Given the description of an element on the screen output the (x, y) to click on. 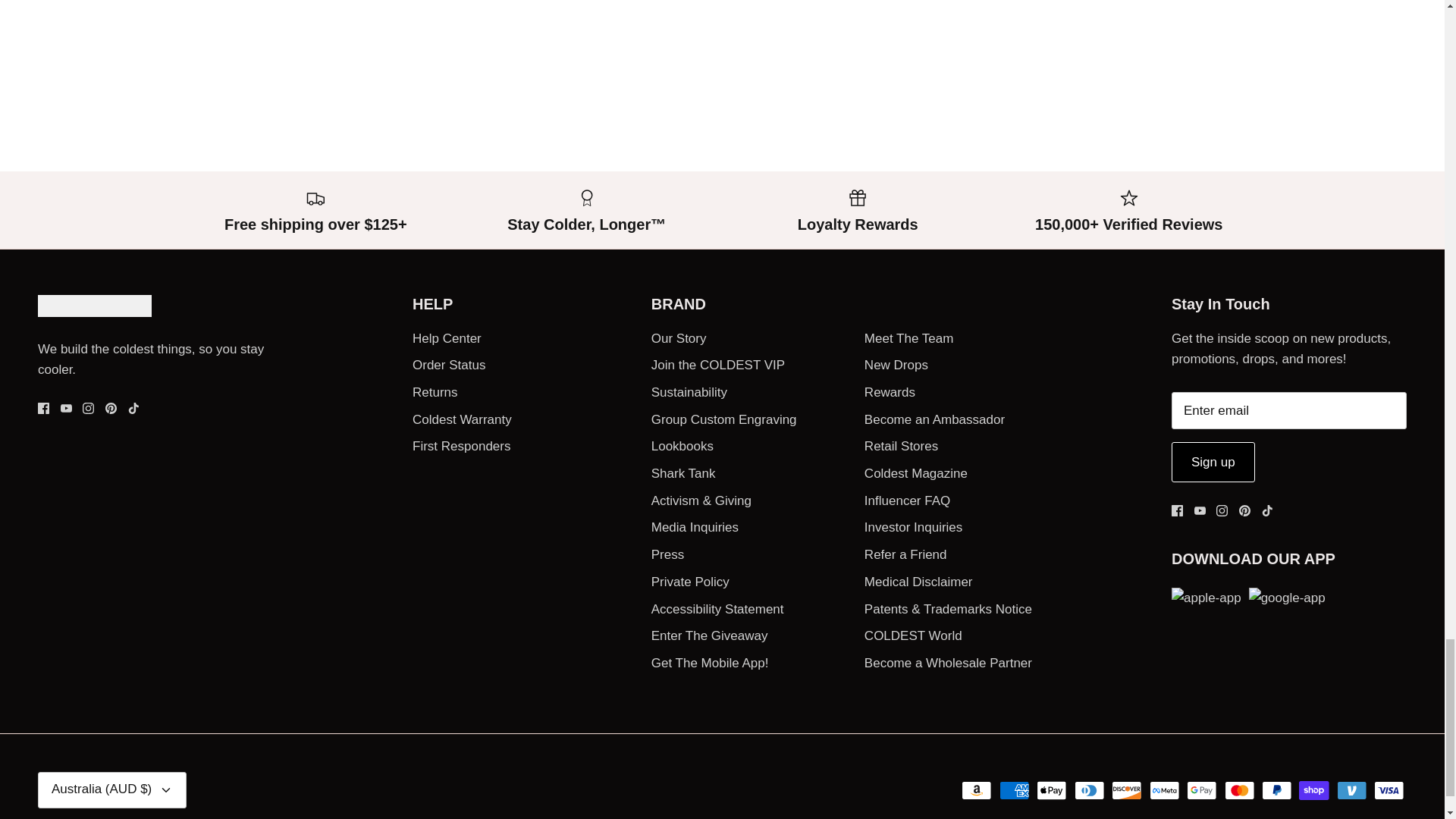
Facebook (43, 408)
Amazon (975, 790)
Youtube (66, 408)
American Express (1013, 790)
Pinterest (110, 408)
Facebook (1177, 510)
Instagram (1221, 510)
Pinterest (1244, 510)
Apple Pay (1051, 790)
Youtube (1199, 510)
Instagram (88, 408)
